Given the description of an element on the screen output the (x, y) to click on. 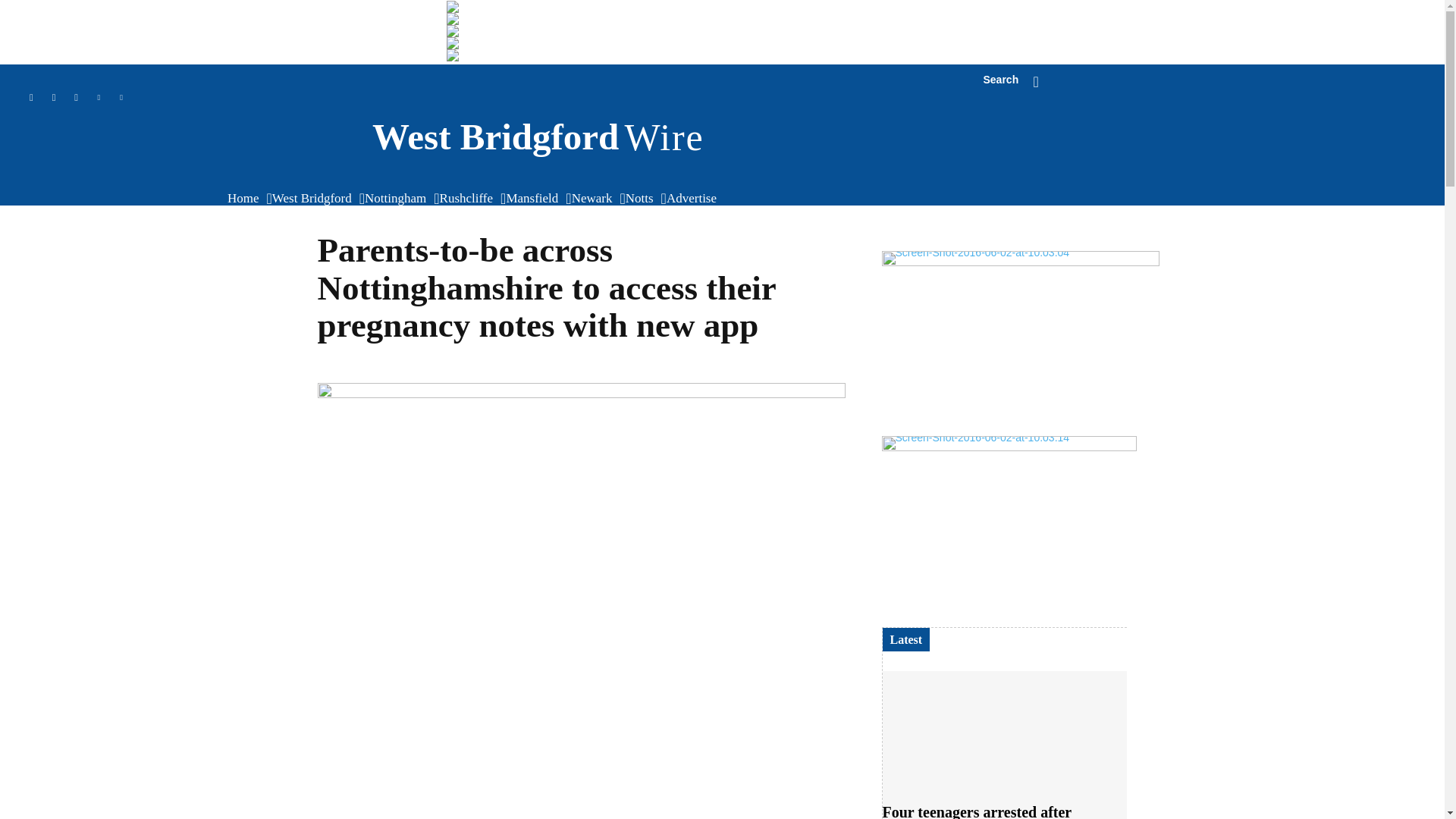
Search (1017, 81)
Screen-Shot-2016-06-02-at-10.03.04 (1019, 342)
Nottingham (399, 198)
Advertise (694, 198)
Mansfield (535, 198)
Newark (596, 198)
Facebook (75, 97)
Linkedin (354, 137)
